Given the description of an element on the screen output the (x, y) to click on. 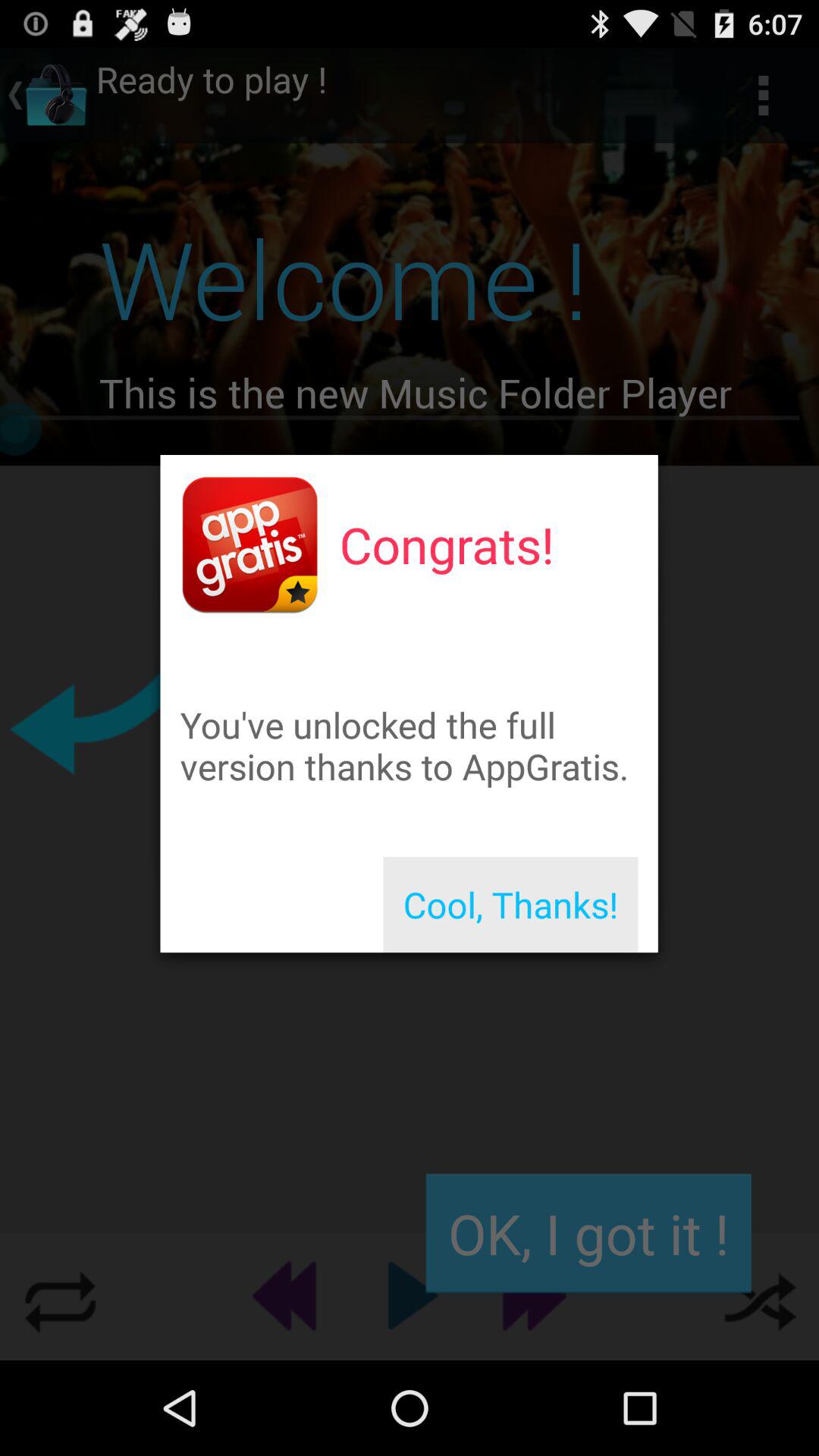
turn on item below you ve unlocked item (510, 904)
